Given the description of an element on the screen output the (x, y) to click on. 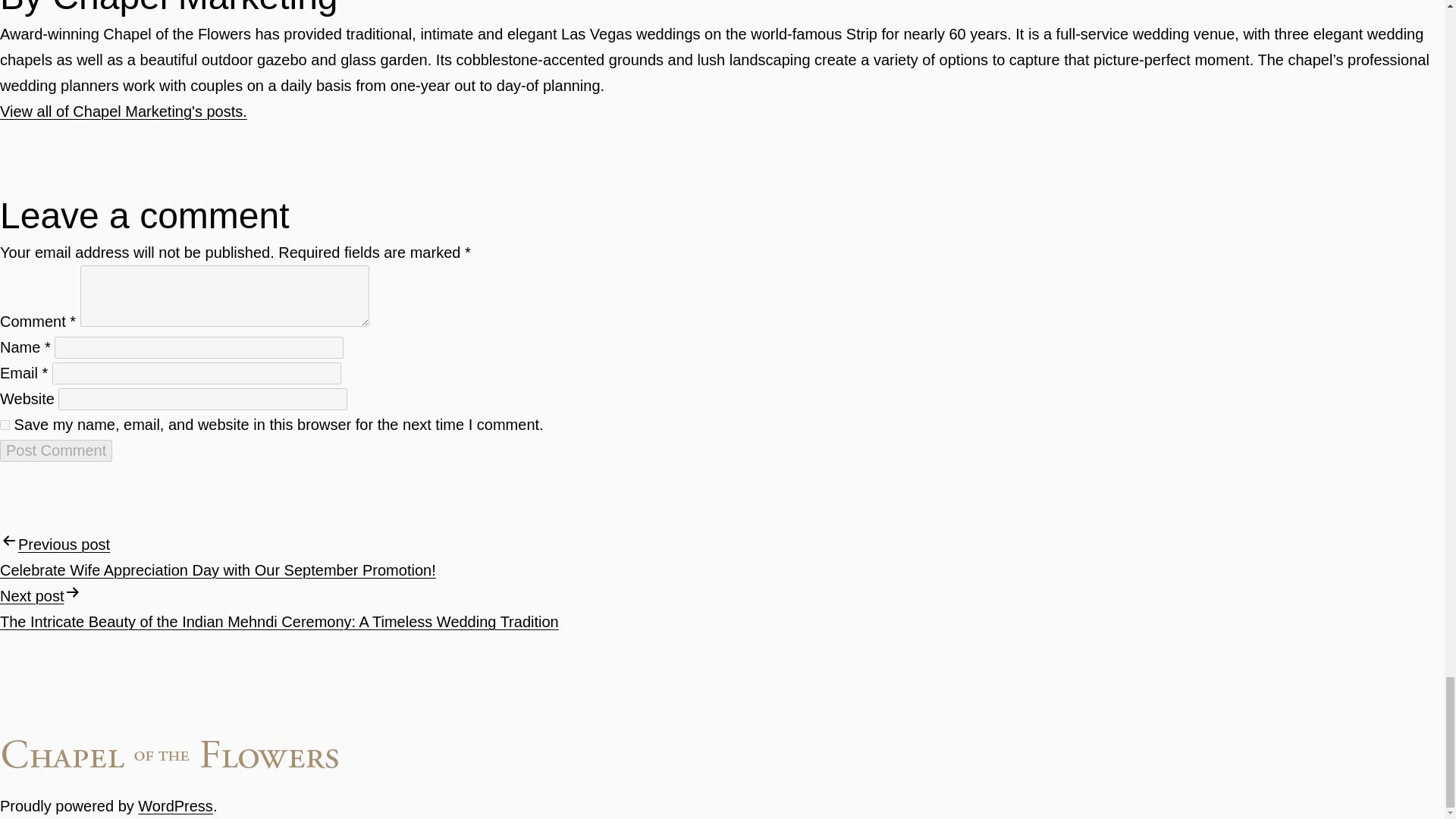
View all of Chapel Marketing's posts. (123, 111)
Post Comment (56, 450)
WordPress (175, 805)
Post Comment (56, 450)
yes (5, 424)
